Given the description of an element on the screen output the (x, y) to click on. 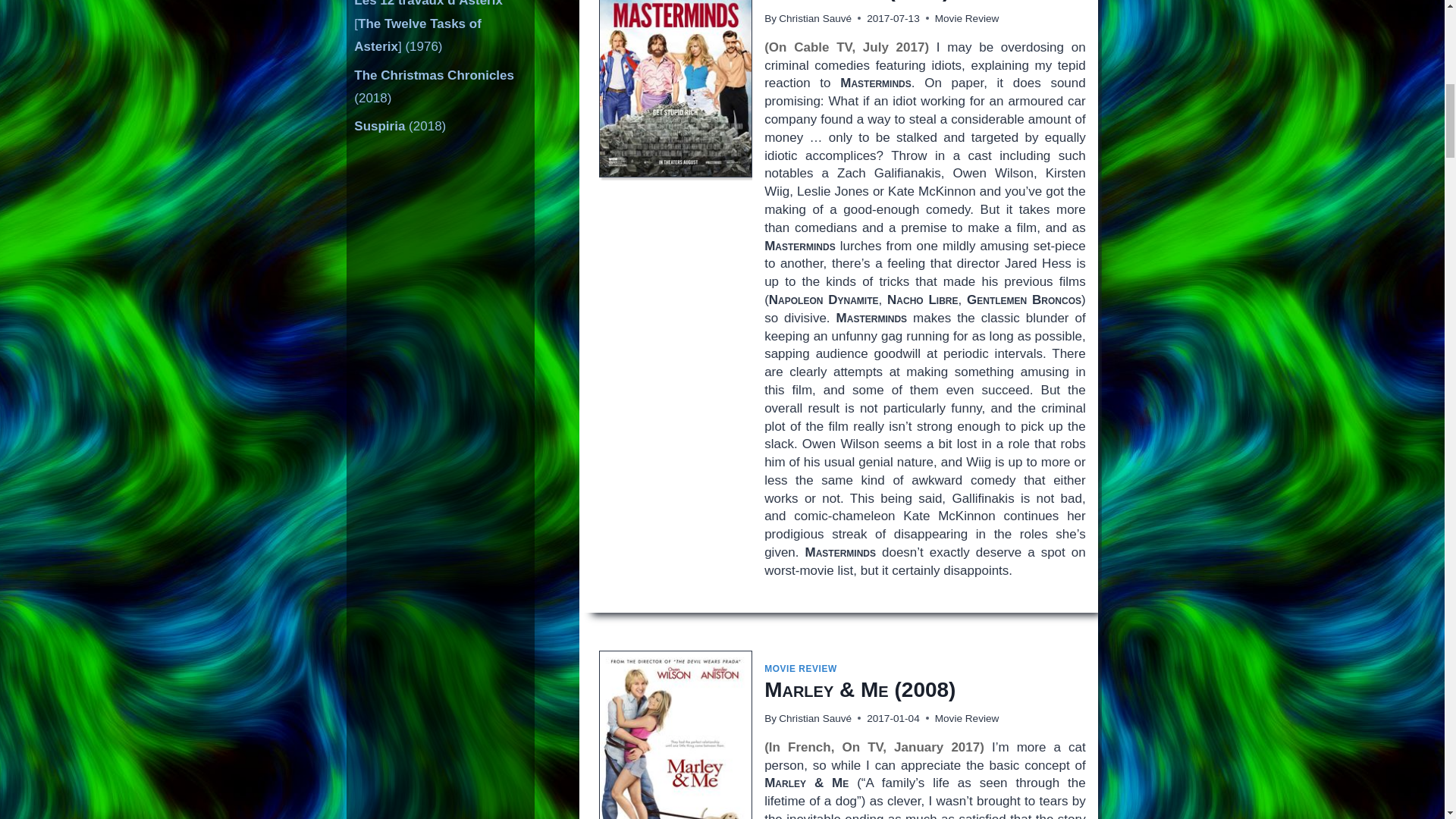
Movie Review (966, 717)
Movie Review (966, 18)
MOVIE REVIEW (800, 668)
